Given the description of an element on the screen output the (x, y) to click on. 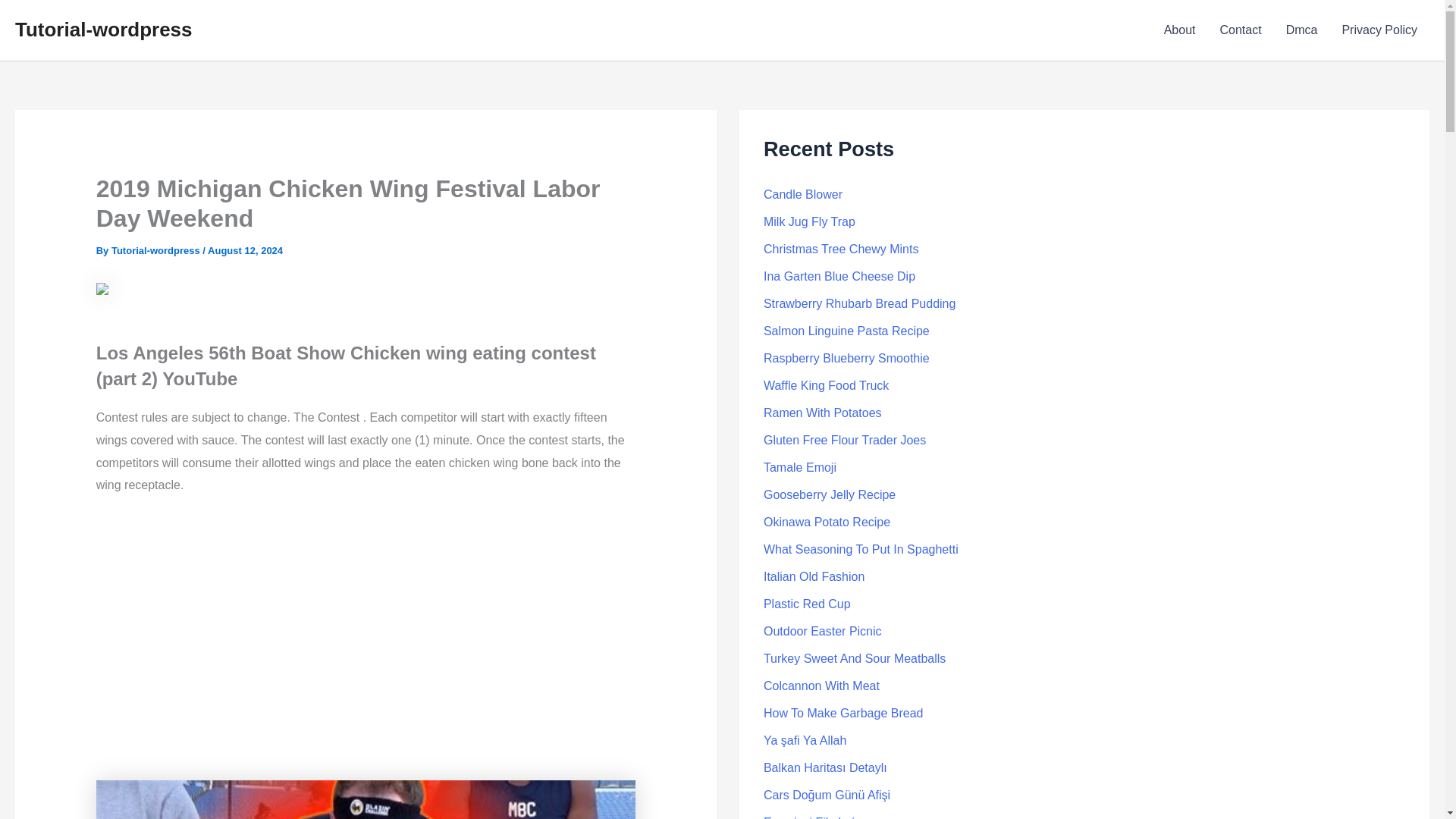
Dmca (1302, 30)
How To Make Garbage Bread (842, 712)
Raspberry Blueberry Smoothie (846, 358)
Okinawa Potato Recipe (825, 521)
Milk Jug Fly Trap (809, 221)
Plastic Red Cup (806, 603)
Contact (1239, 30)
Gooseberry Jelly Recipe (828, 494)
Ramen With Potatoes (822, 412)
Outdoor Easter Picnic (822, 631)
